Given the description of an element on the screen output the (x, y) to click on. 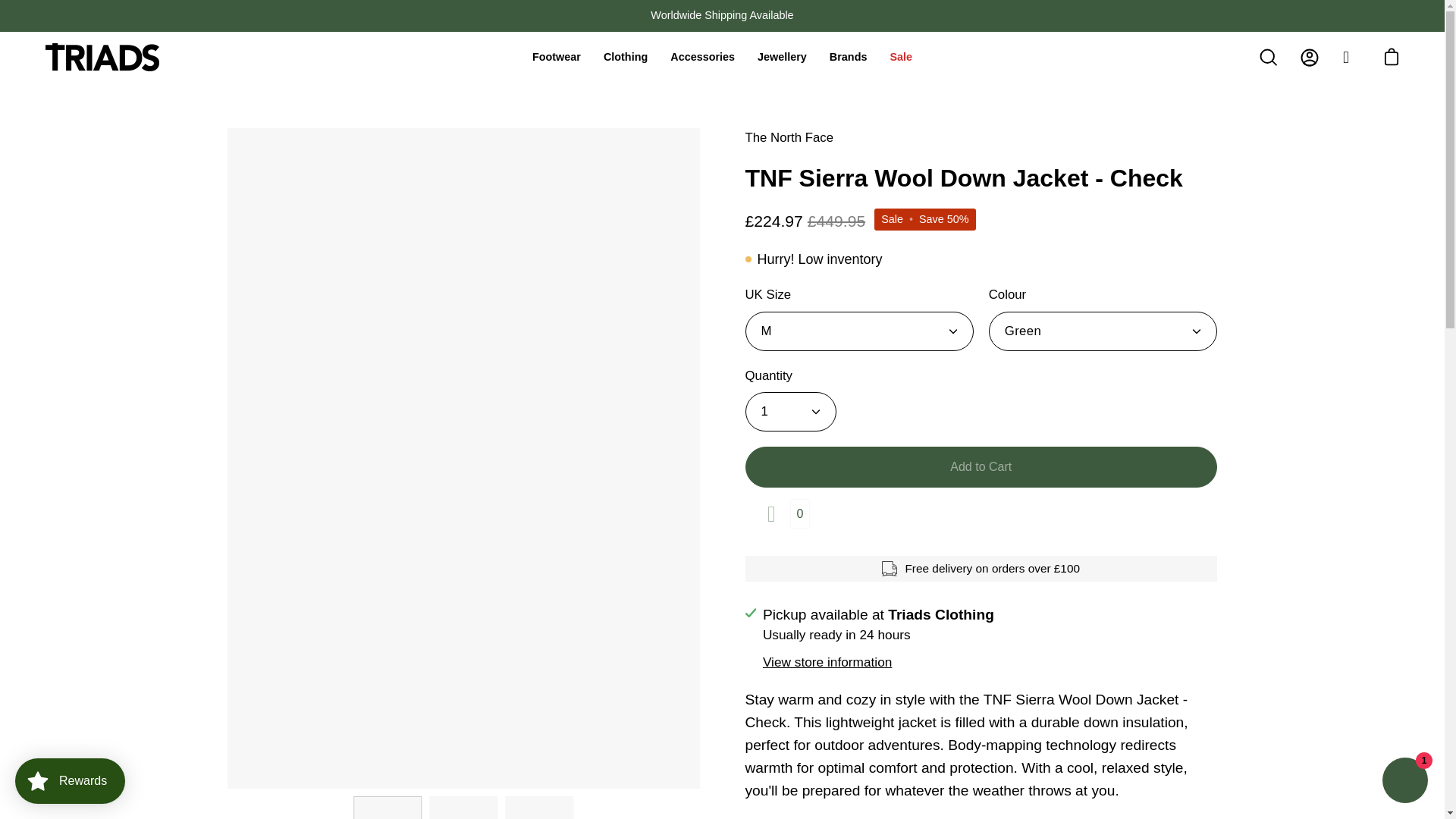
Shopify online store chat (1404, 781)
